Given the description of an element on the screen output the (x, y) to click on. 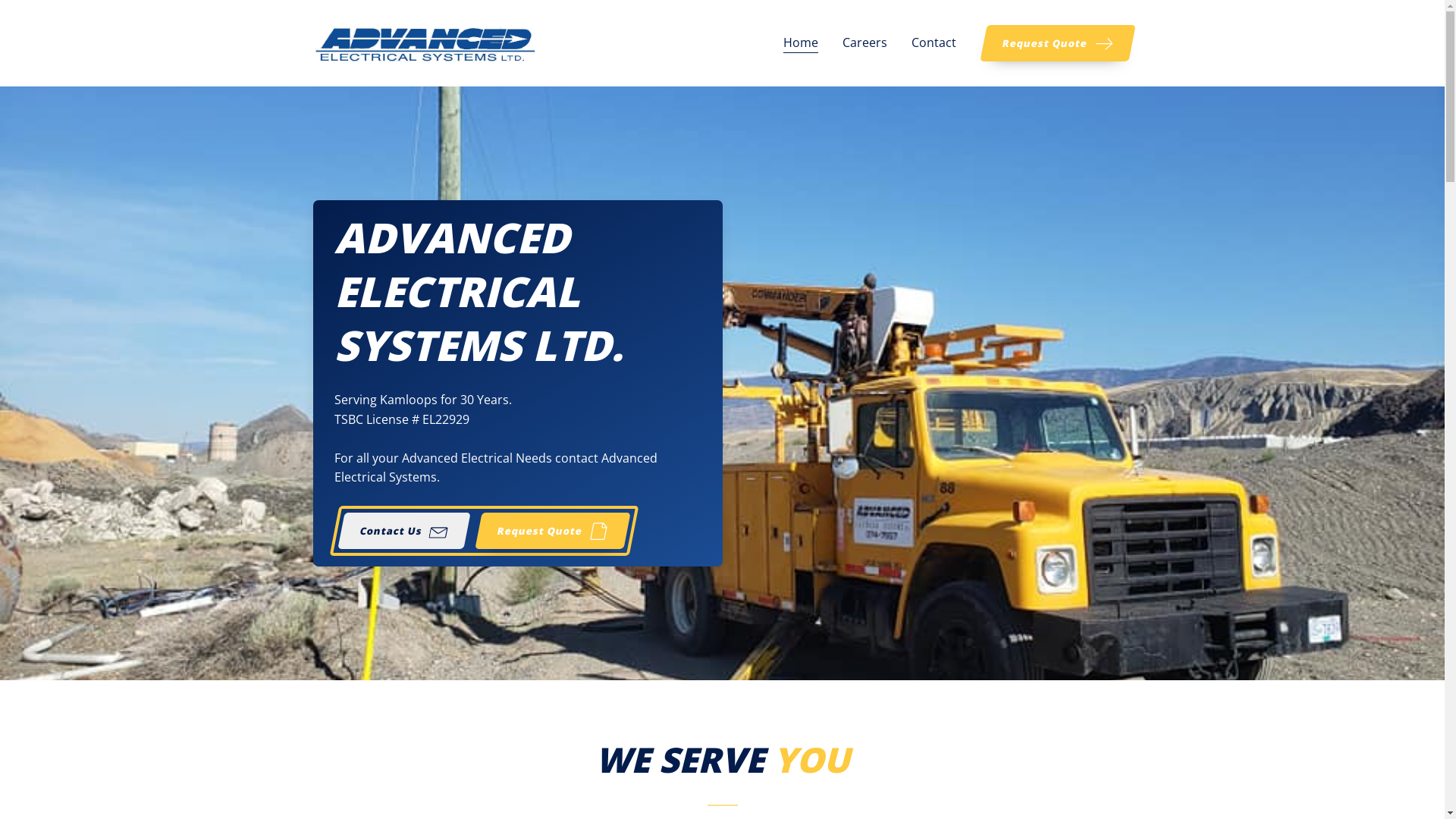
Home Element type: text (799, 43)
Request Quote Element type: text (1053, 43)
Request Quote Element type: text (548, 530)
Careers Element type: text (863, 43)
Contact Us Element type: text (400, 530)
Contact Element type: text (933, 43)
